Given the description of an element on the screen output the (x, y) to click on. 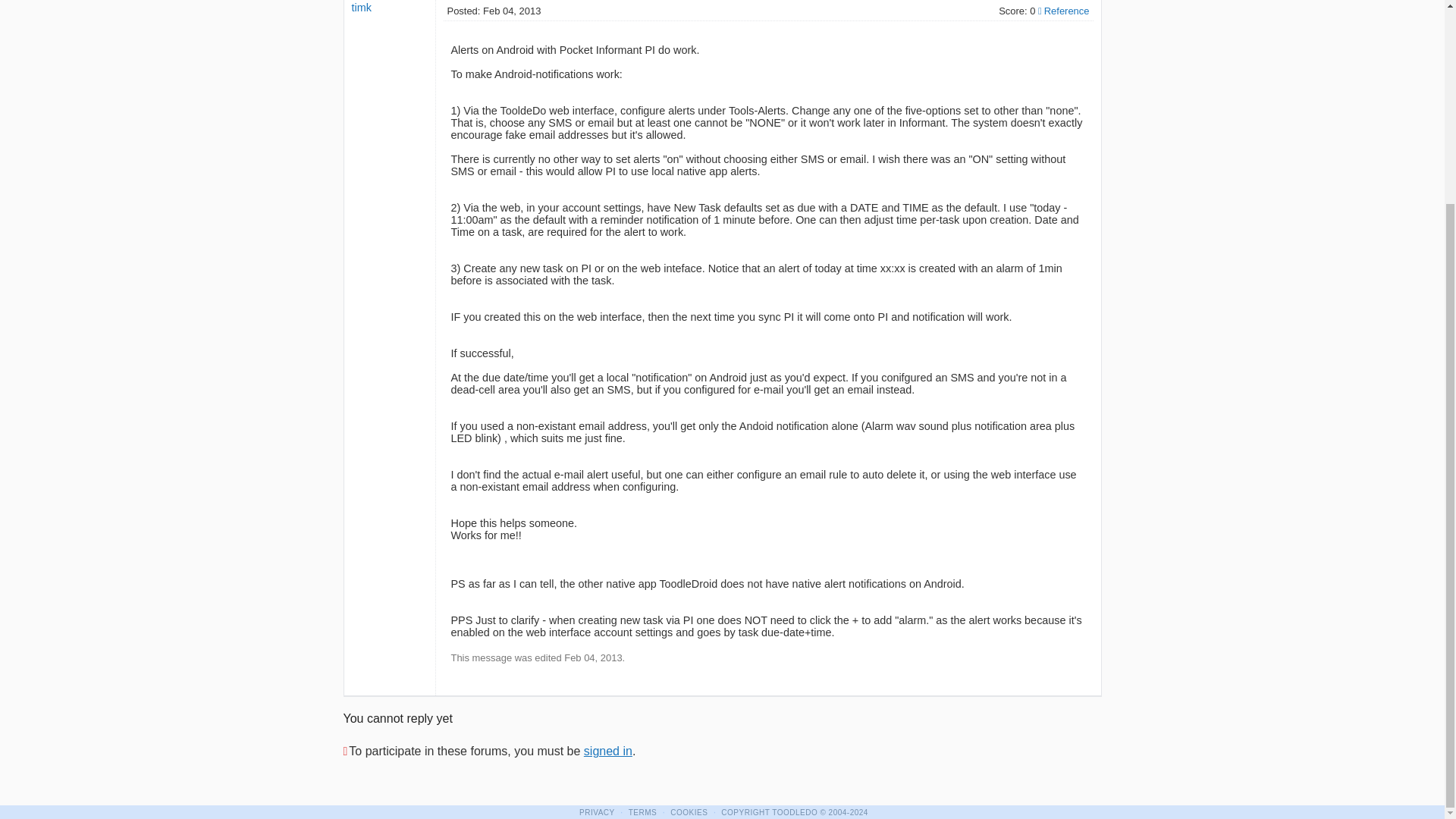
6 (792, 812)
Reference (1063, 10)
COOKIES (688, 812)
timk (361, 7)
signed in (607, 750)
PRIVACY (596, 812)
TERMS (643, 812)
